Given the description of an element on the screen output the (x, y) to click on. 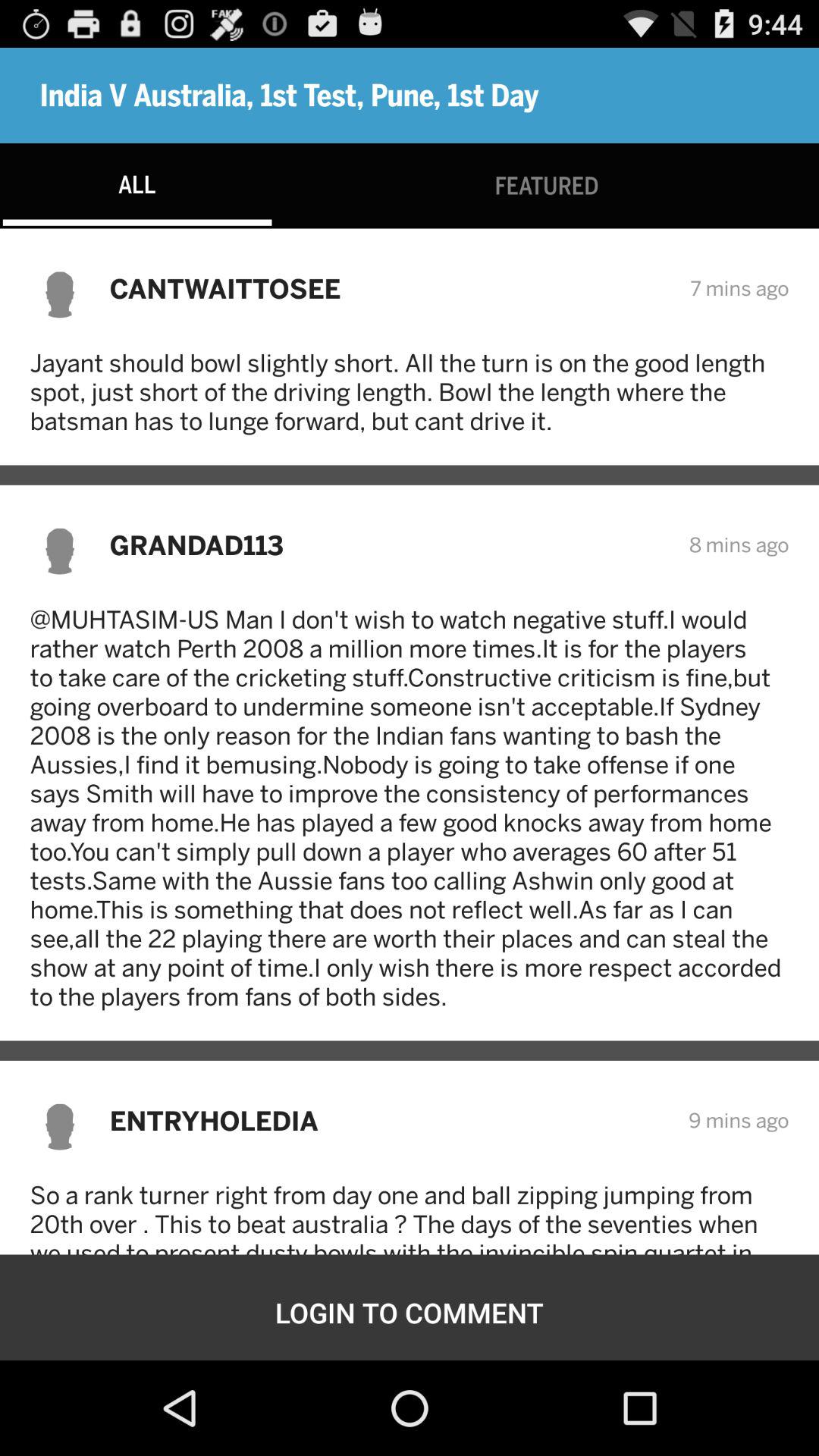
select the so a rank icon (409, 1217)
